Given the description of an element on the screen output the (x, y) to click on. 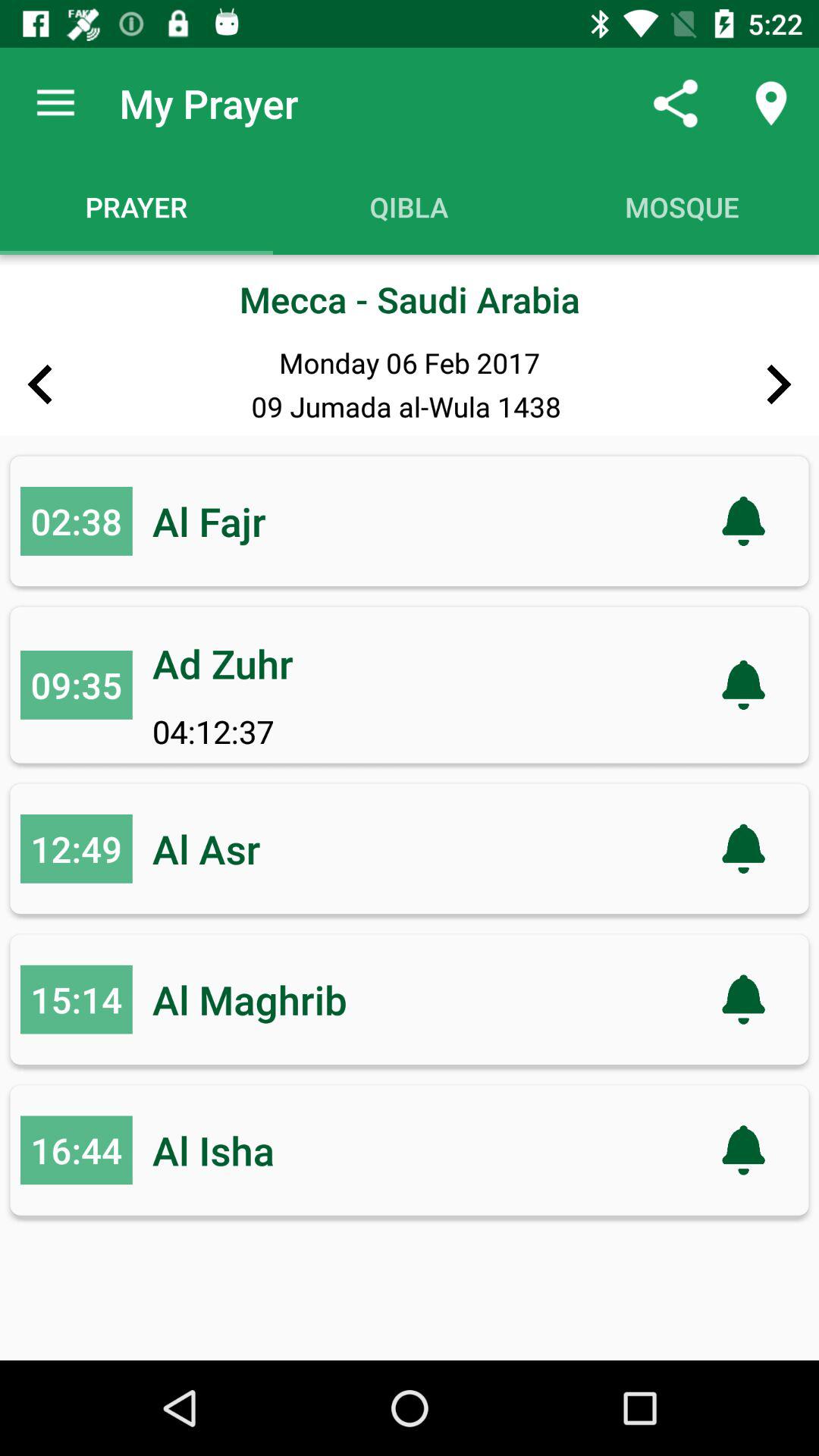
scroll until the 09:35 (76, 684)
